Given the description of an element on the screen output the (x, y) to click on. 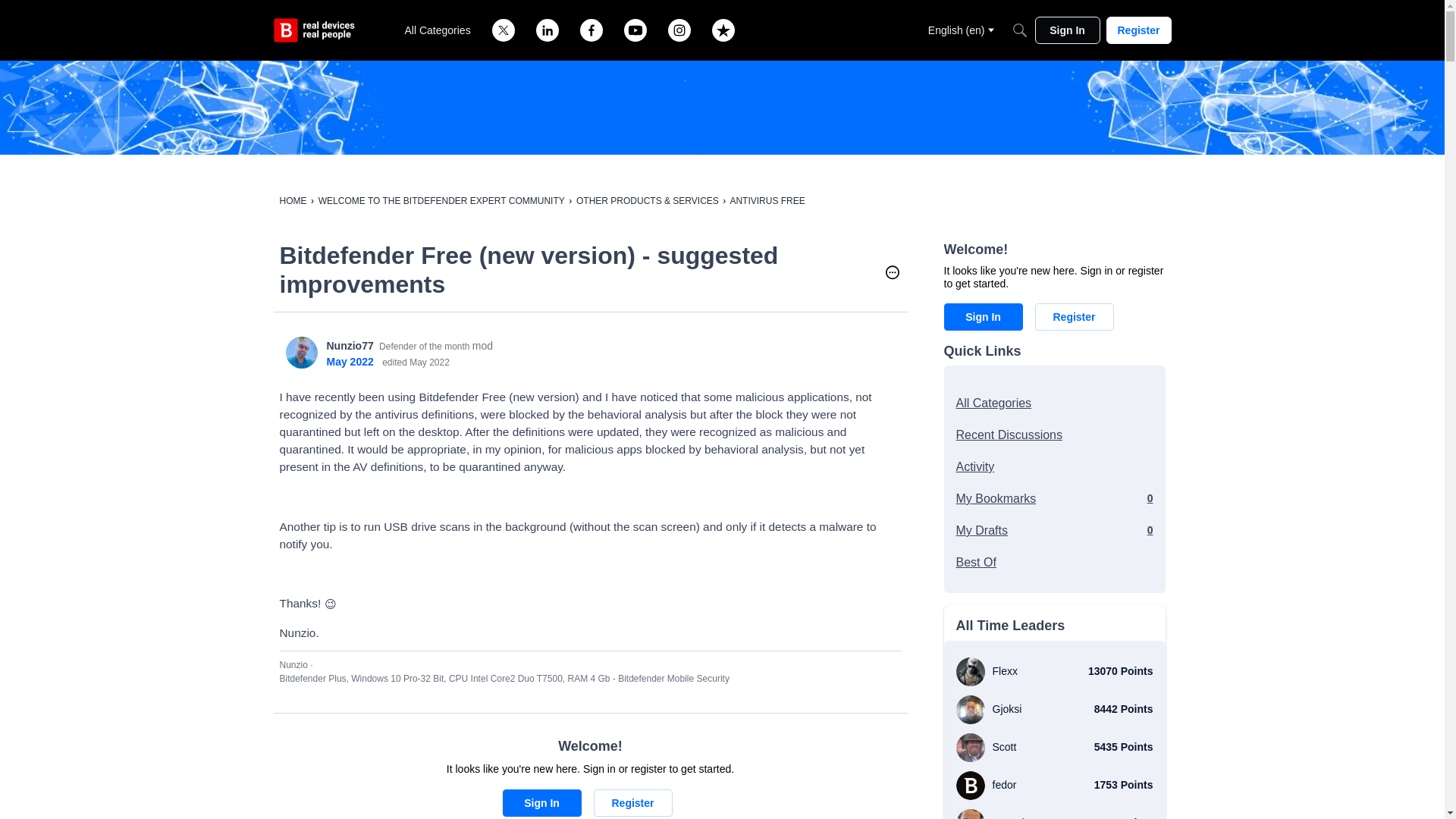
Moderator (482, 345)
Register (1137, 30)
Sign In (541, 802)
Register (631, 802)
Nunzio77 (349, 345)
All Categories (437, 30)
WELCOME TO THE BITDEFENDER EXPERT COMMUNITY (441, 200)
Nunzio77 (301, 352)
Search (1019, 30)
Register (631, 802)
Sign In (541, 802)
HOME (292, 200)
ANTIVIRUS FREE (767, 200)
May 8, 2022 1:21PM (349, 361)
